Given the description of an element on the screen output the (x, y) to click on. 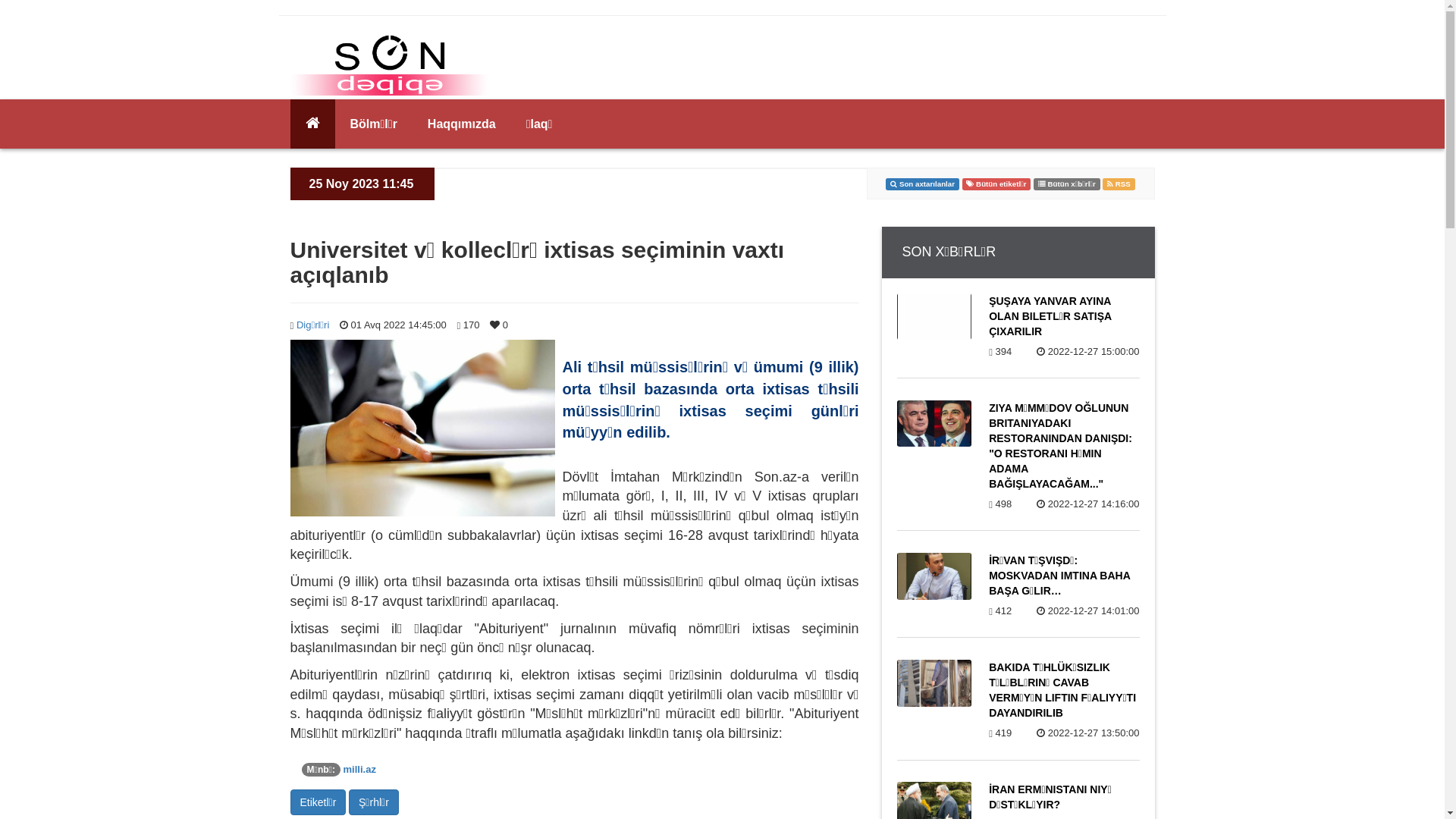
RSS Element type: text (1118, 182)
milli.az Element type: text (359, 769)
